Given the description of an element on the screen output the (x, y) to click on. 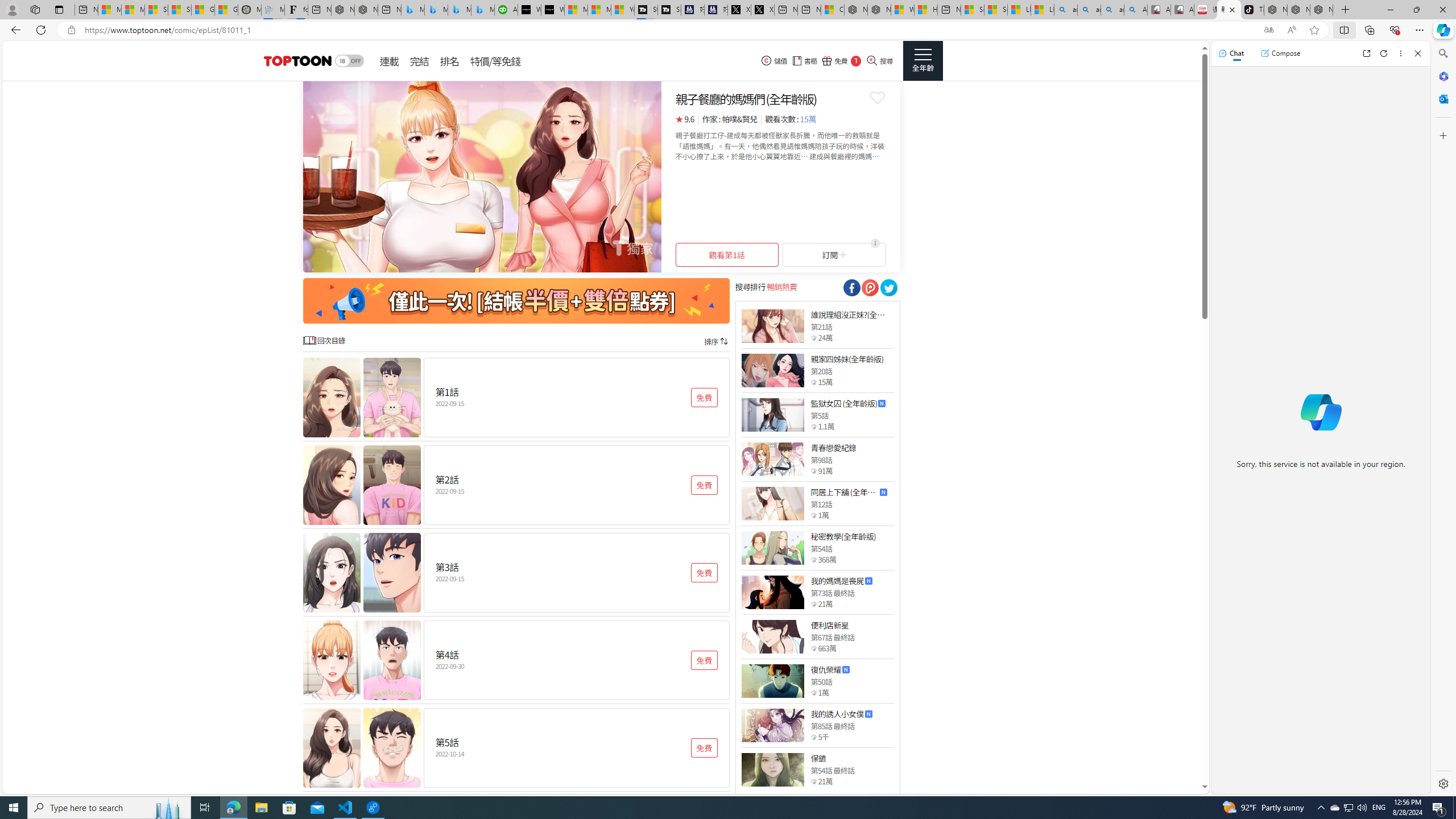
Class:  switch_18mode actionAdultBtn (349, 60)
Show translate options (1268, 29)
Gilma and Hector both pose tropical trouble for Hawaii (226, 9)
Customize (1442, 135)
